Given the description of an element on the screen output the (x, y) to click on. 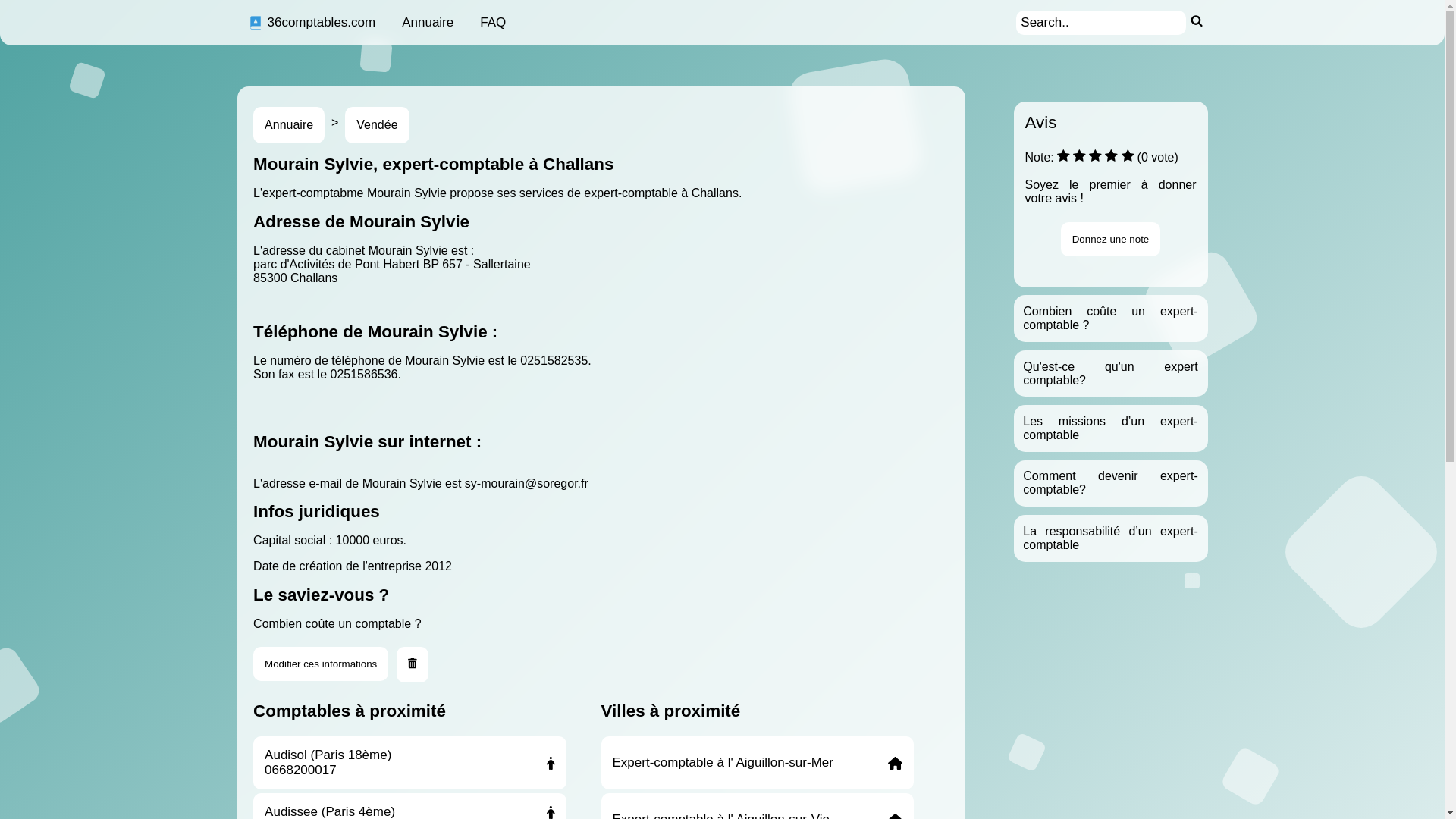
36comptables.com Element type: text (311, 22)
Qu'est-ce qu'un expert comptable? Element type: text (1109, 373)
0251582535 Element type: text (553, 360)
sy-mourain@soregor.fr Element type: text (526, 482)
Annuaire Element type: text (427, 22)
Annuaire Element type: text (288, 124)
Comment devenir expert-comptable? Element type: text (1109, 482)
FAQ Element type: text (492, 22)
Donnez une note Element type: text (1110, 239)
Modifier ces informations Element type: text (320, 663)
